Given the description of an element on the screen output the (x, y) to click on. 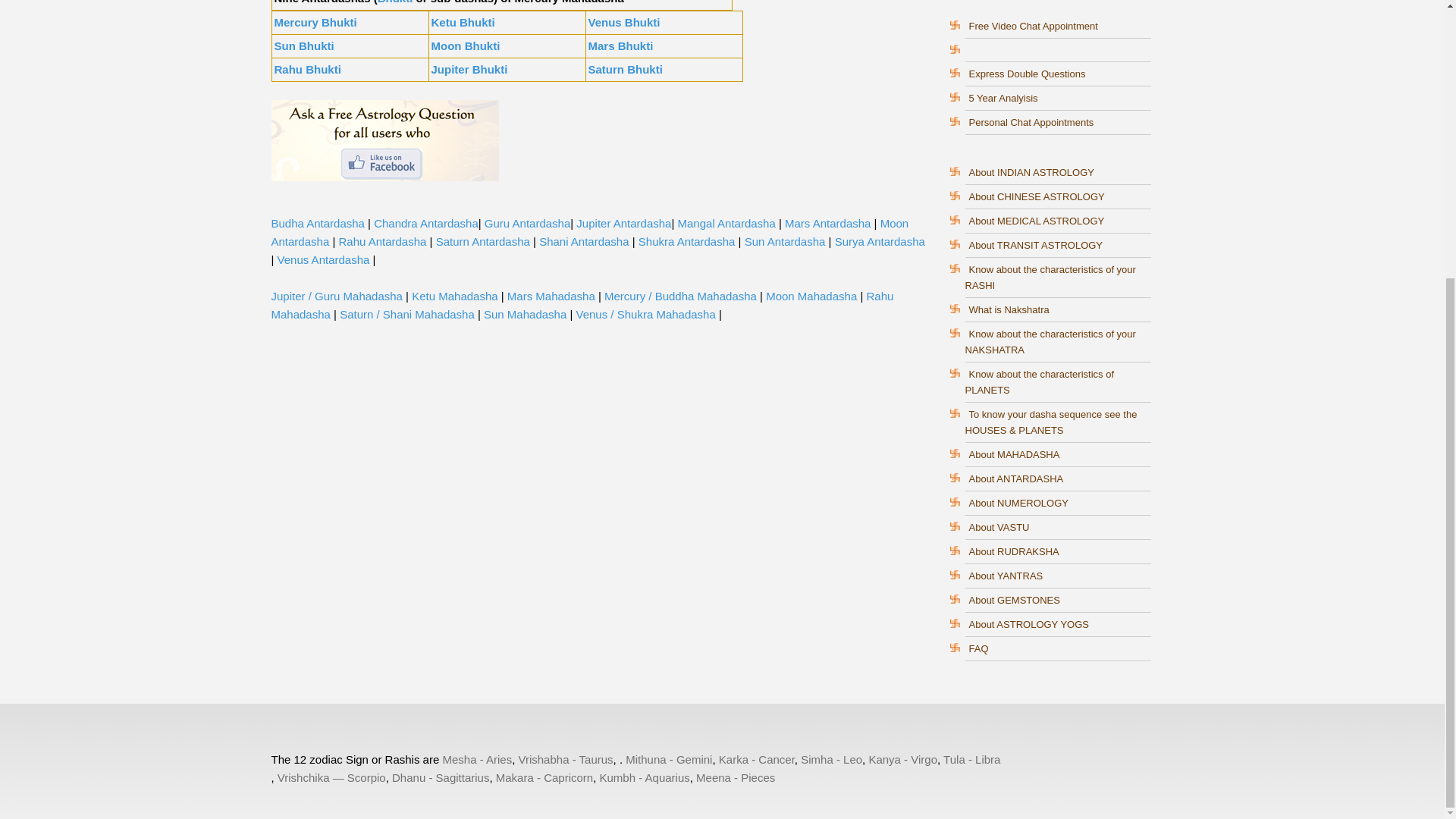
Bhukti (395, 2)
Mangal Antardasha (727, 223)
Moon Bhukti (464, 45)
Shani Antardasha (583, 241)
Moon Antardasha (589, 232)
Ketu Mahadasha (454, 295)
Sun Antardasha (784, 241)
Sun Mahadasha (524, 314)
Rahu Bhukti (307, 69)
Budha Antardasha (317, 223)
